Given the description of an element on the screen output the (x, y) to click on. 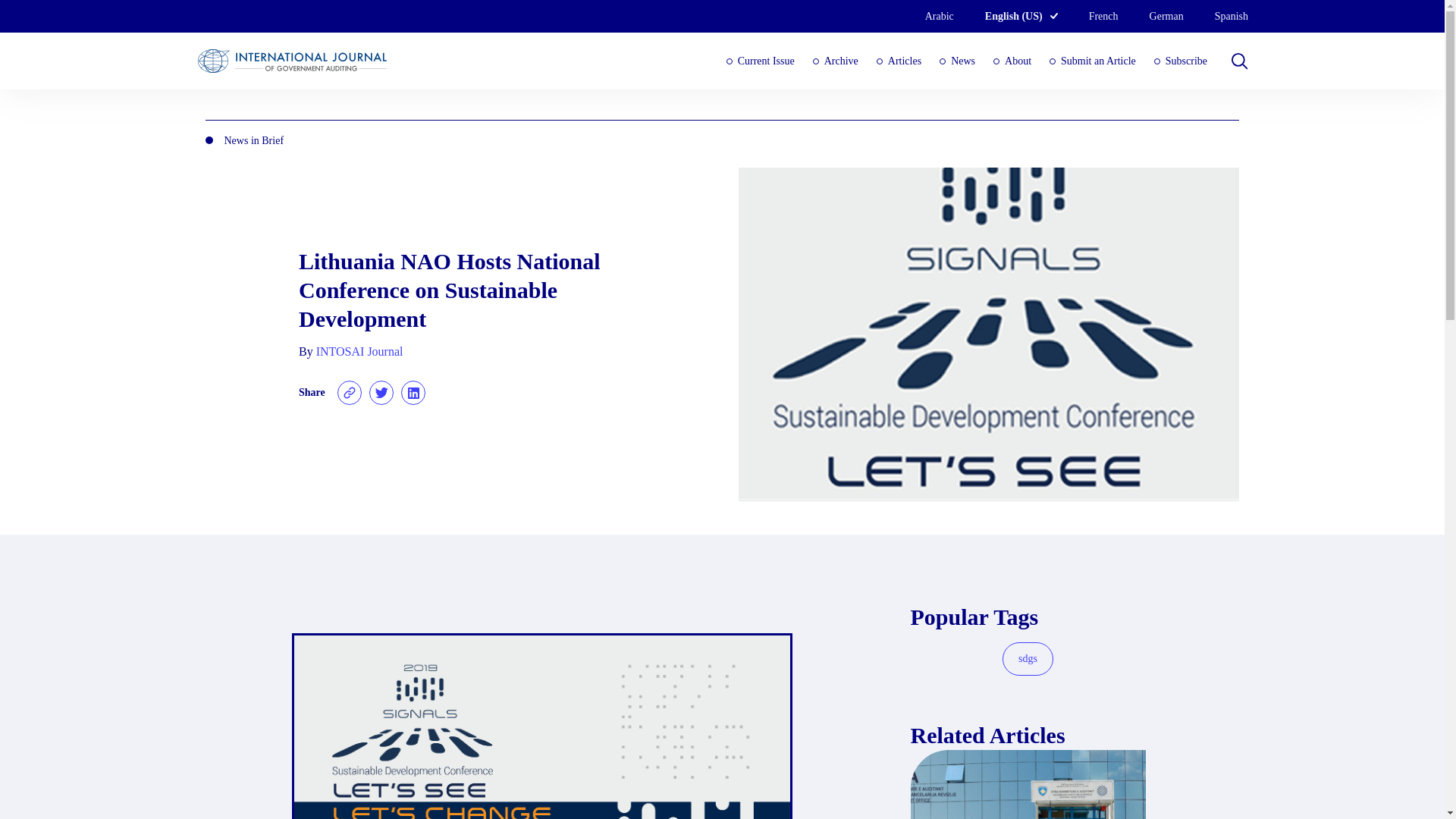
About (1011, 60)
French (1088, 16)
Subscribe (1180, 60)
Posts by INTOSAI Journal (359, 350)
Search (25, 13)
German (1150, 16)
News (957, 60)
Archive (835, 60)
Spanish (1215, 16)
Articles (898, 60)
Current Issue (760, 60)
Submit an Article (1092, 60)
Arabic (923, 16)
